Given the description of an element on the screen output the (x, y) to click on. 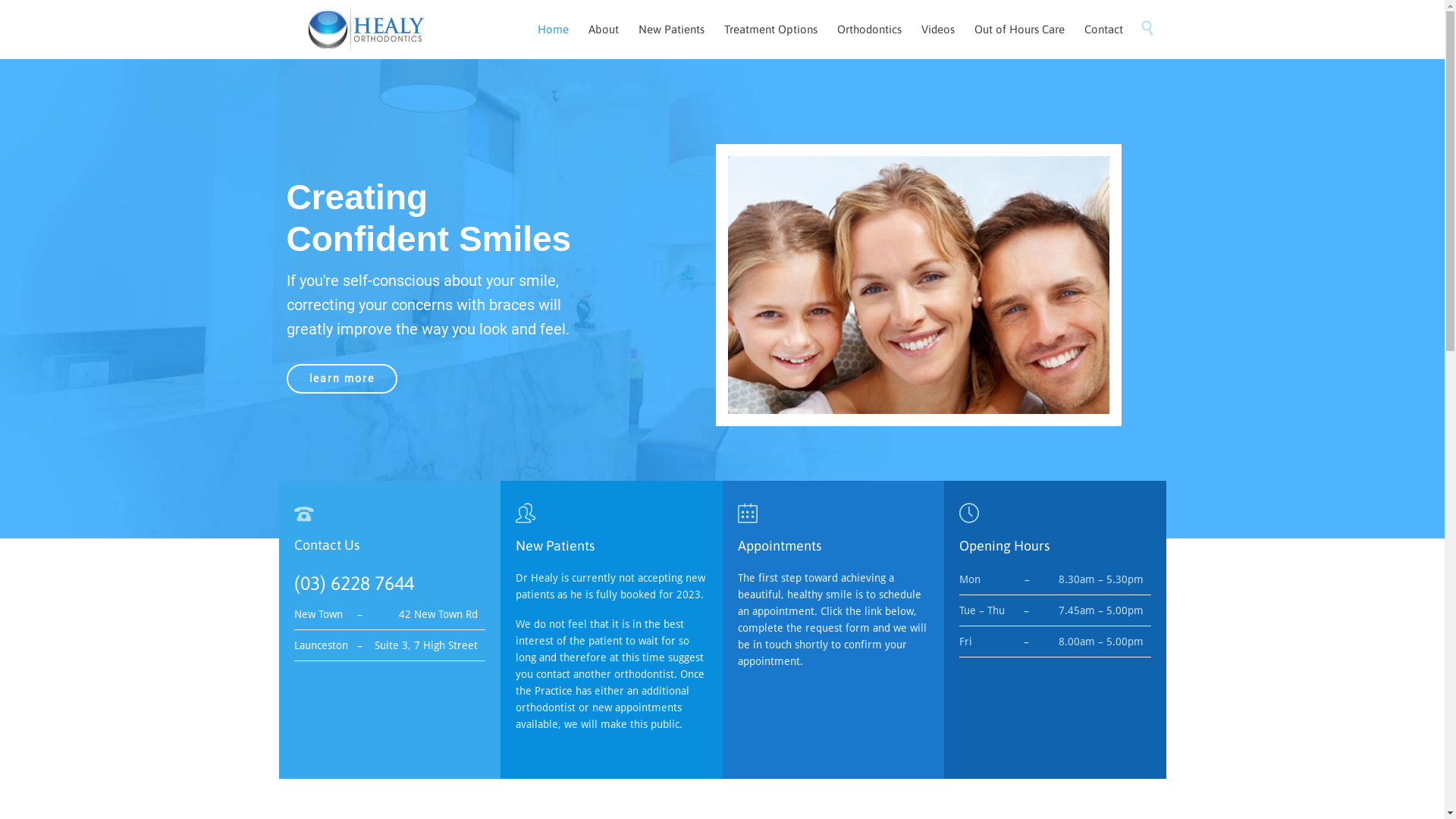
Healy Orthodontics Element type: hover (365, 29)
Treatment Options Element type: text (770, 29)
Home Element type: text (552, 29)
learn more Element type: text (341, 378)
Skip to content Element type: text (1134, 12)
Orthodontics Element type: text (868, 29)
Contact Element type: text (1102, 29)
Videos Element type: text (937, 29)
Out of Hours Care Element type: text (1019, 29)
About Element type: text (602, 29)
New Patients Element type: text (670, 29)
